Given the description of an element on the screen output the (x, y) to click on. 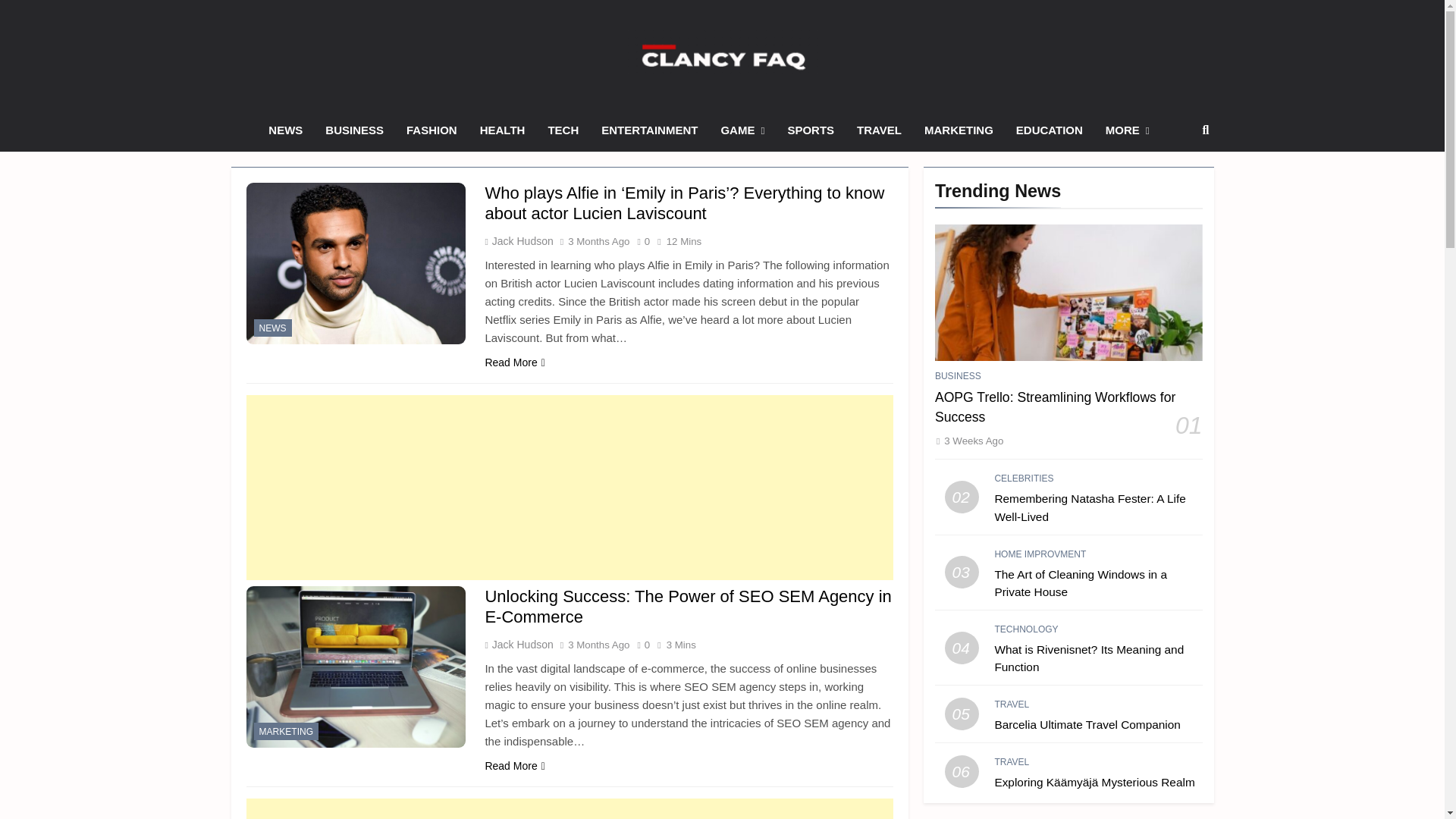
TECH (562, 129)
TRAVEL (878, 129)
Advertisement (569, 808)
FASHION (431, 129)
3 Months Ago (597, 241)
ENTERTAINMENT (649, 129)
Jack Hudson (520, 644)
NEWS (285, 129)
Read More (514, 362)
Advertisement (569, 486)
NEWS (272, 327)
MARKETING (285, 731)
Unlocking Success: The Power of SEO SEM Agency in E-Commerce (687, 606)
Unlocking Success: The Power of SEO SEM Agency in E-Commerce (687, 606)
EDUCATION (1049, 129)
